Given the description of an element on the screen output the (x, y) to click on. 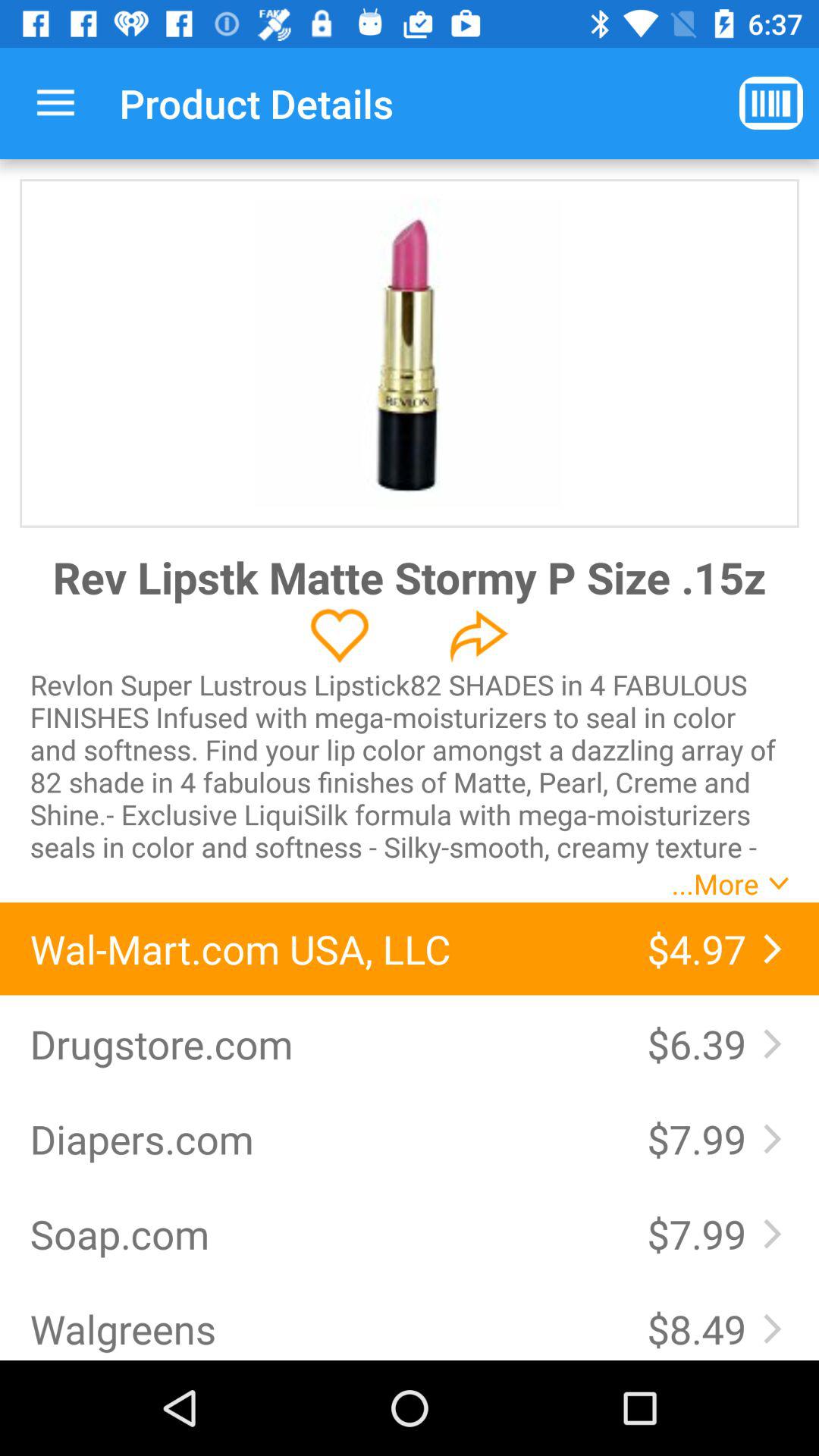
wishlist the article (339, 636)
